Given the description of an element on the screen output the (x, y) to click on. 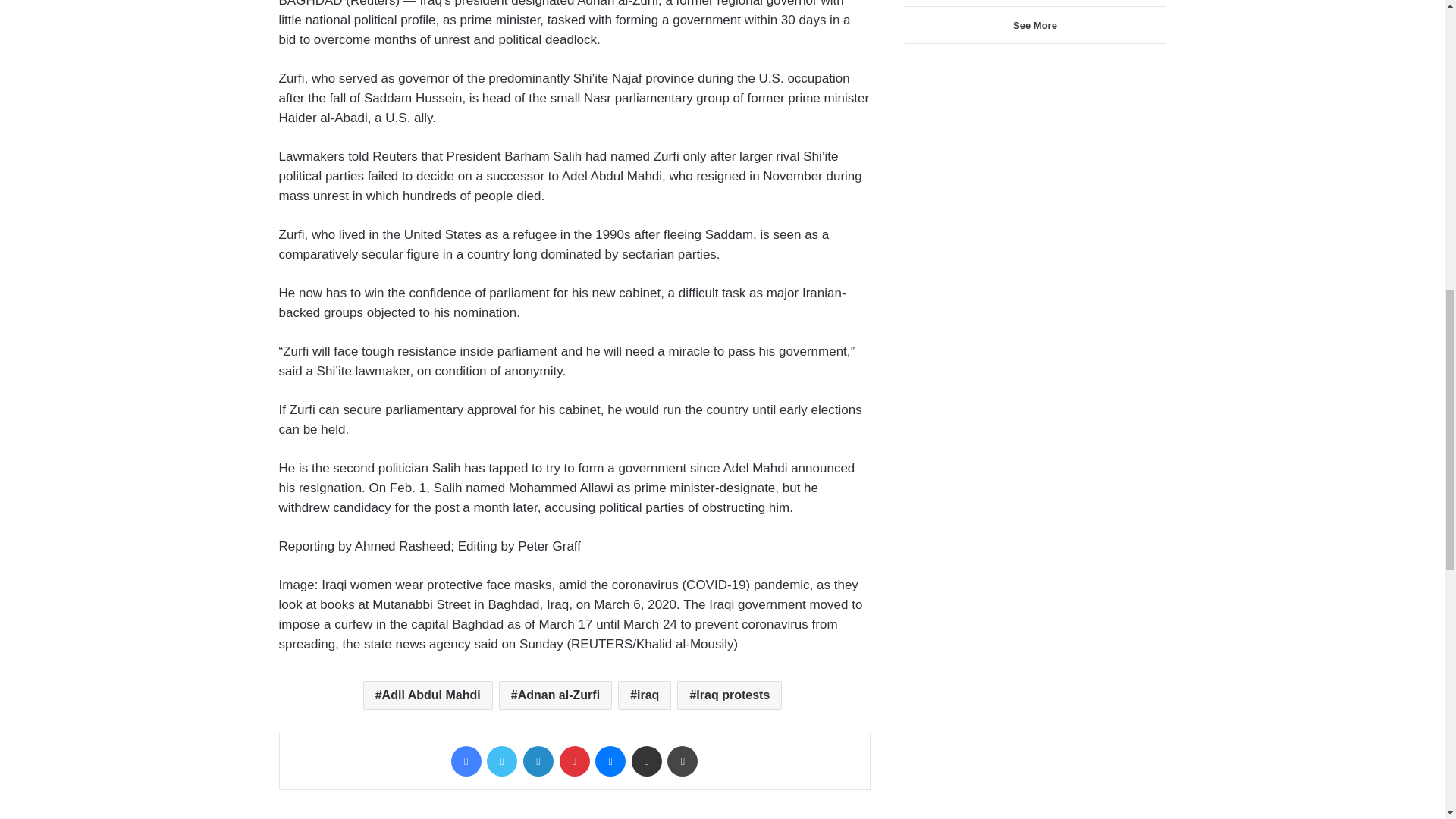
LinkedIn (537, 761)
Twitter (501, 761)
Adil Abdul Mahdi (427, 695)
Messenger (610, 761)
Facebook (466, 761)
Iraq protests (729, 695)
Messenger (610, 761)
Adnan al-Zurfi (555, 695)
Pinterest (574, 761)
Pinterest (574, 761)
LinkedIn (537, 761)
Twitter (501, 761)
iraq (644, 695)
Share via Email (646, 761)
Share via Email (646, 761)
